Given the description of an element on the screen output the (x, y) to click on. 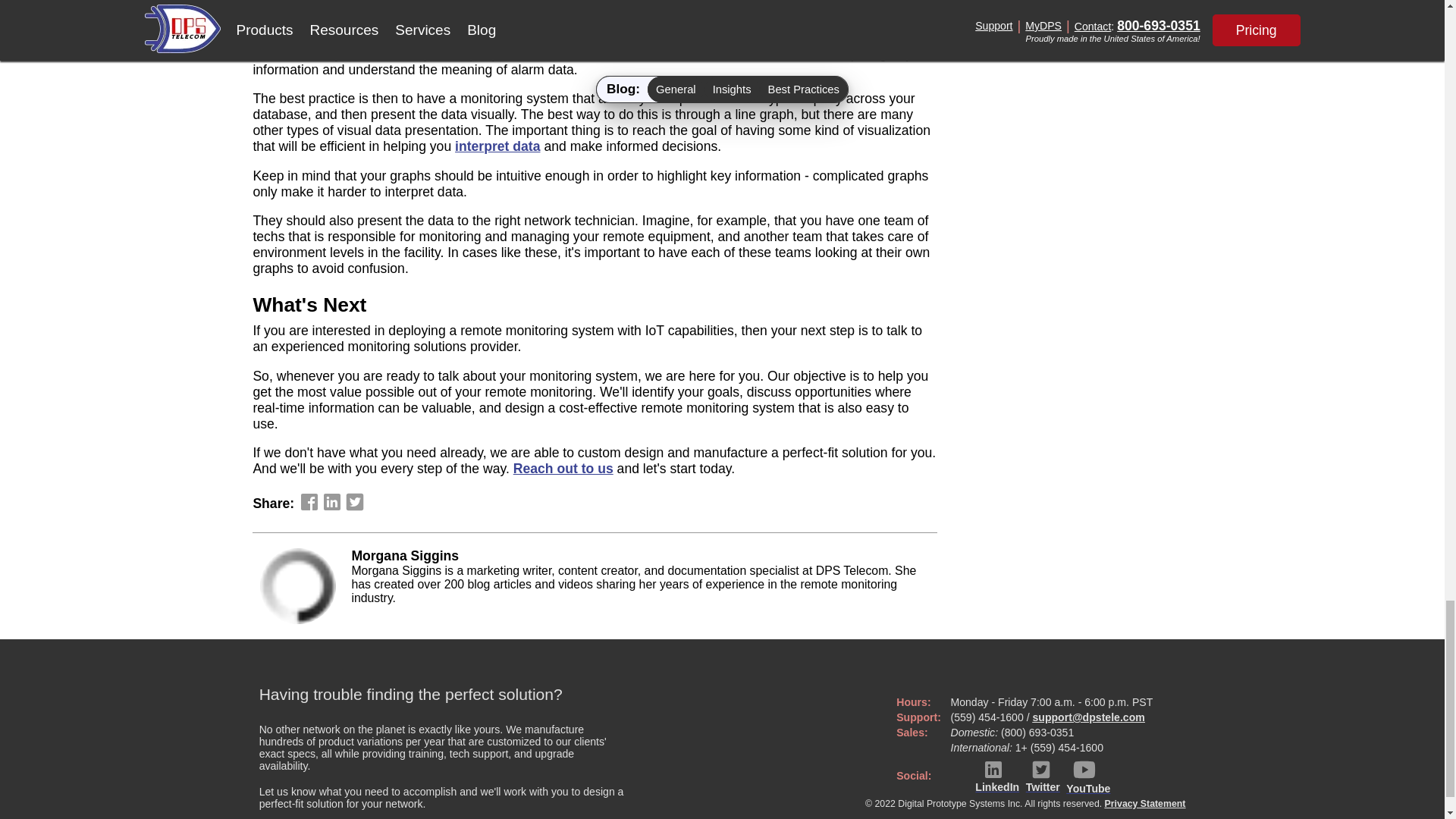
Reach out to us (562, 468)
interpret data (497, 145)
